Given the description of an element on the screen output the (x, y) to click on. 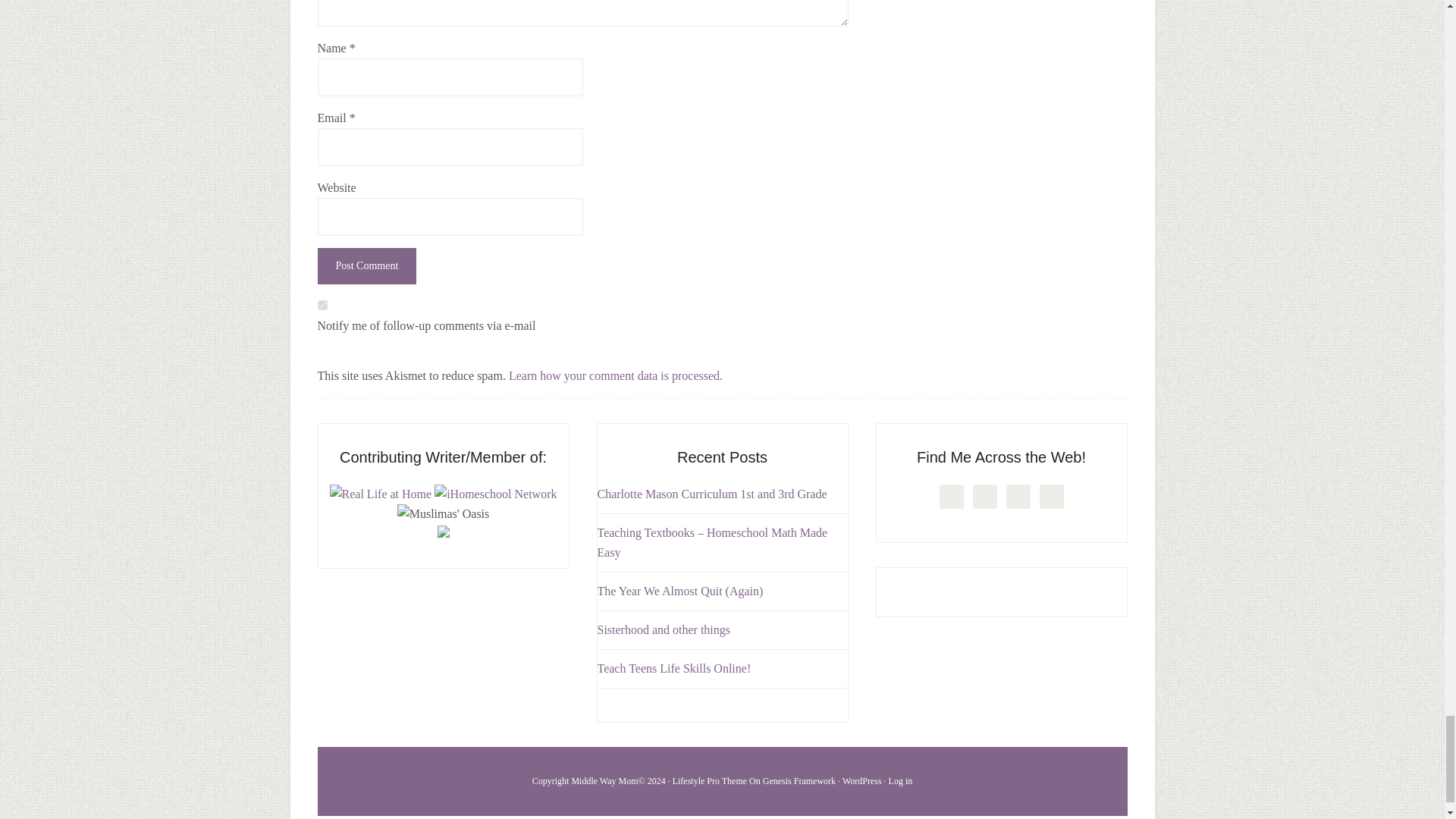
Proud Member of the Kid Blogger Network (442, 533)
Real Life at Home (381, 493)
iHomeschool Network (494, 493)
Post Comment (366, 266)
